Given the description of an element on the screen output the (x, y) to click on. 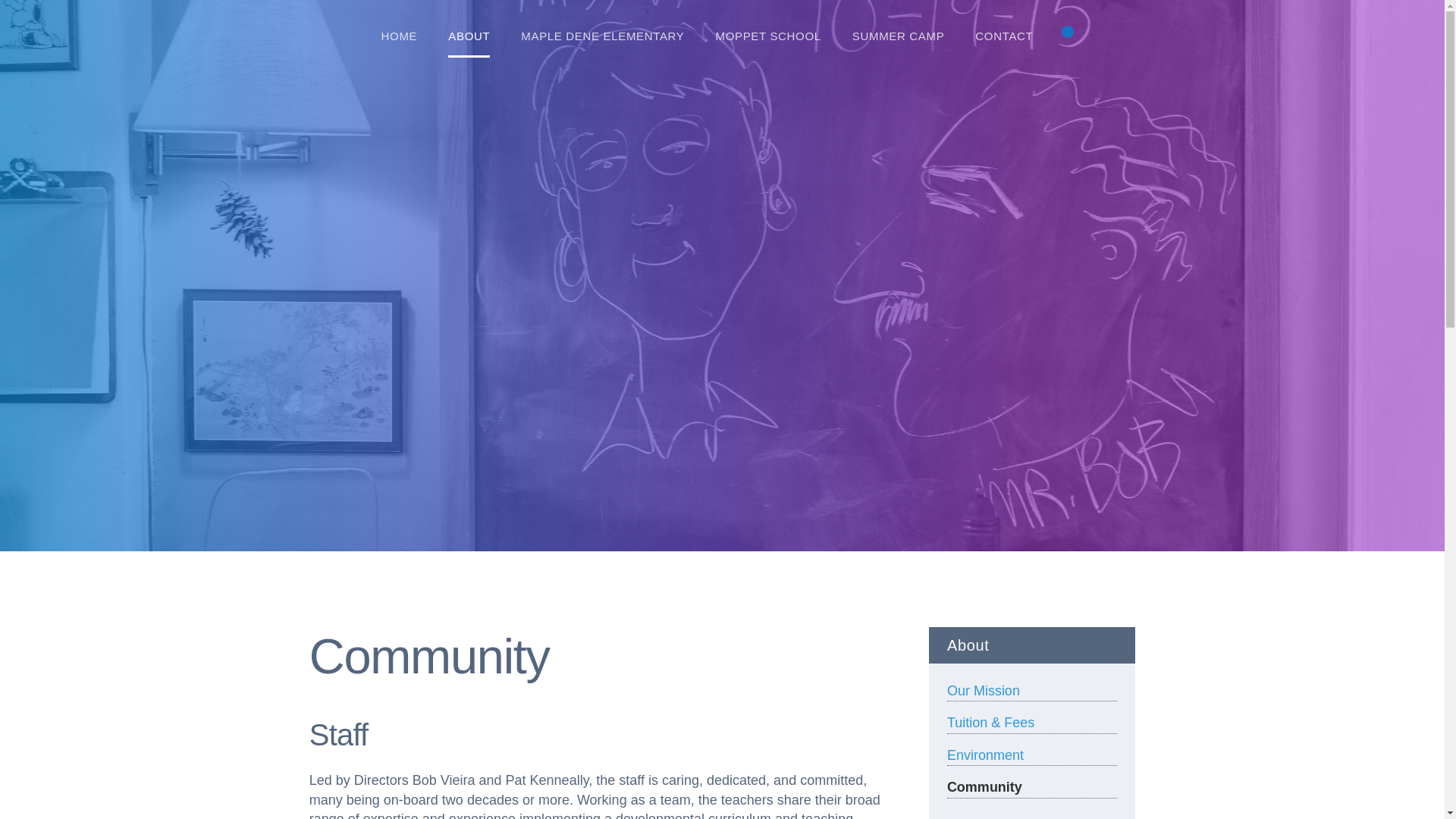
SUMMER CAMP (897, 35)
CONTACT (1003, 35)
HOME (399, 35)
Environment (1031, 755)
MAPLE DENE ELEMENTARY (602, 35)
Our Mission (1031, 691)
About (1031, 645)
Community (1031, 787)
ABOUT (468, 36)
MOPPET SCHOOL (768, 35)
